Given the description of an element on the screen output the (x, y) to click on. 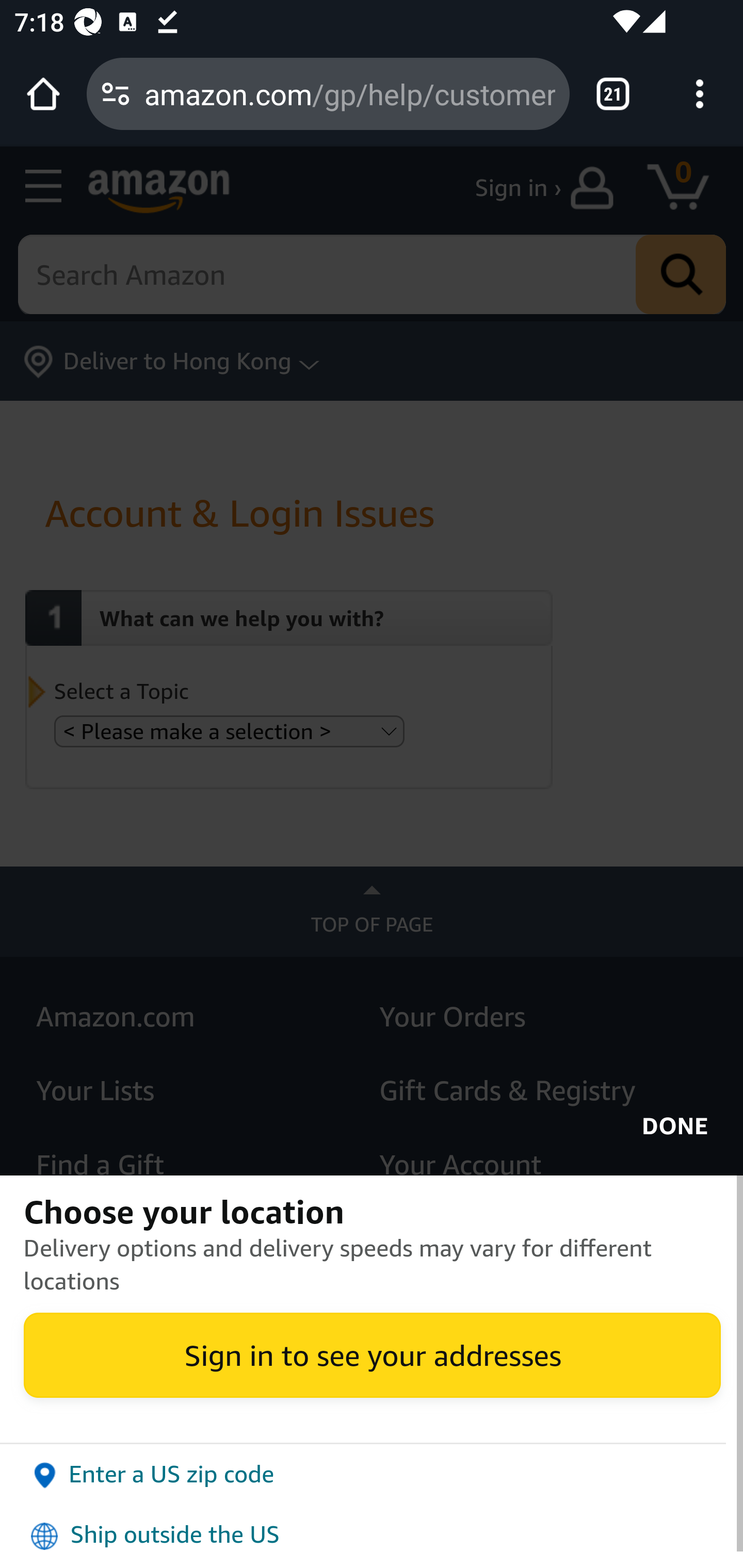
Open the home page (43, 93)
Connection is secure (115, 93)
Switch or close tabs (612, 93)
Customize and control Google Chrome (699, 93)
Sign in to see your addresses (371, 1354)
Enter a US zip code (371, 1473)
Ship outside the US (371, 1534)
